Given the description of an element on the screen output the (x, y) to click on. 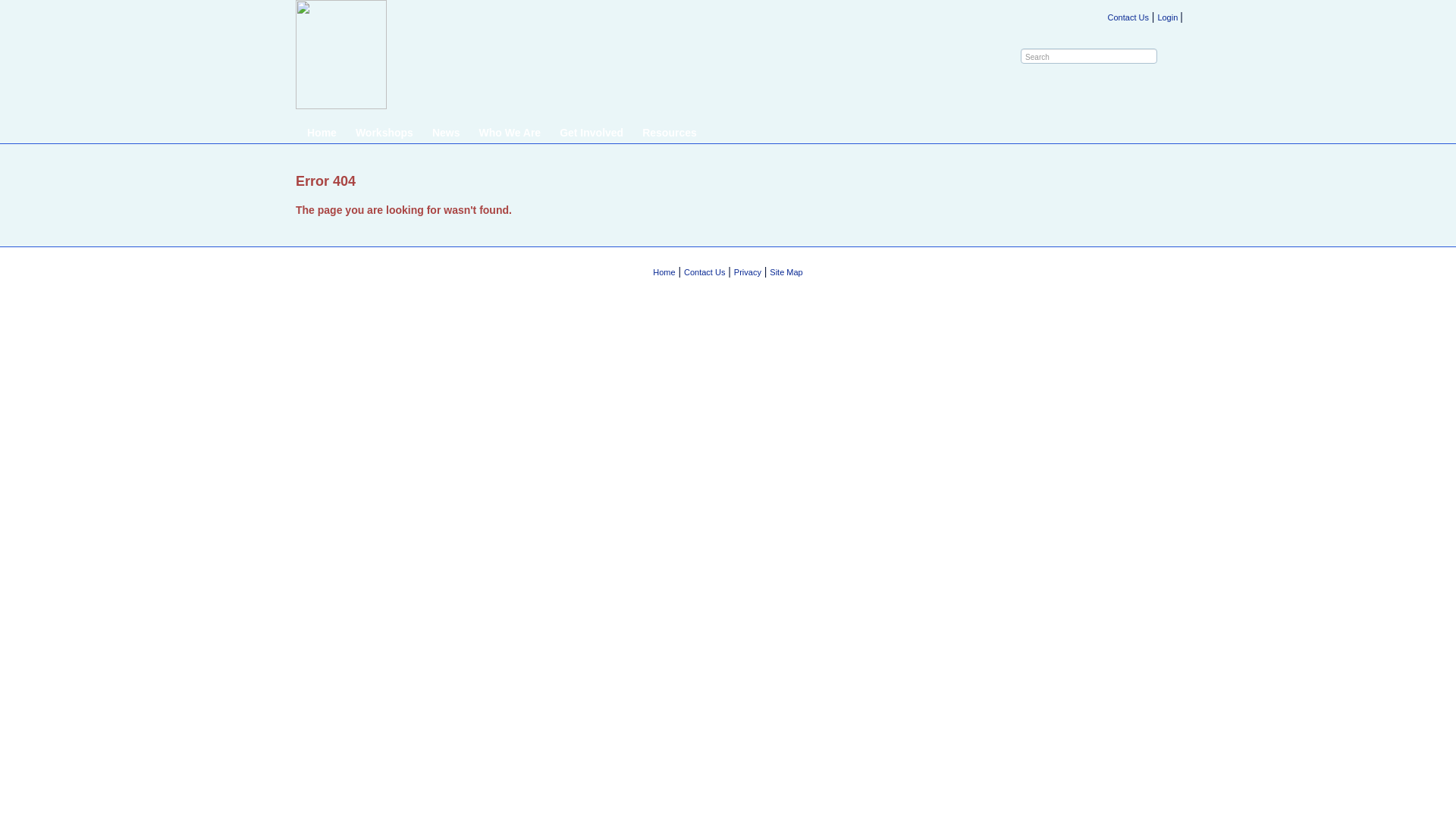
Login Element type: text (1168, 16)
Contact Us Element type: text (1127, 16)
Home Element type: text (663, 271)
Get Involved Element type: text (591, 132)
Site Map Element type: text (785, 271)
Resources Element type: text (669, 132)
Home Element type: text (321, 132)
  Element type: text (1152, 55)
Contact Us Element type: text (704, 271)
Who We Are Element type: text (509, 132)
News Element type: text (446, 132)
Privacy Element type: text (747, 271)
Workshops Element type: text (384, 132)
